Given the description of an element on the screen output the (x, y) to click on. 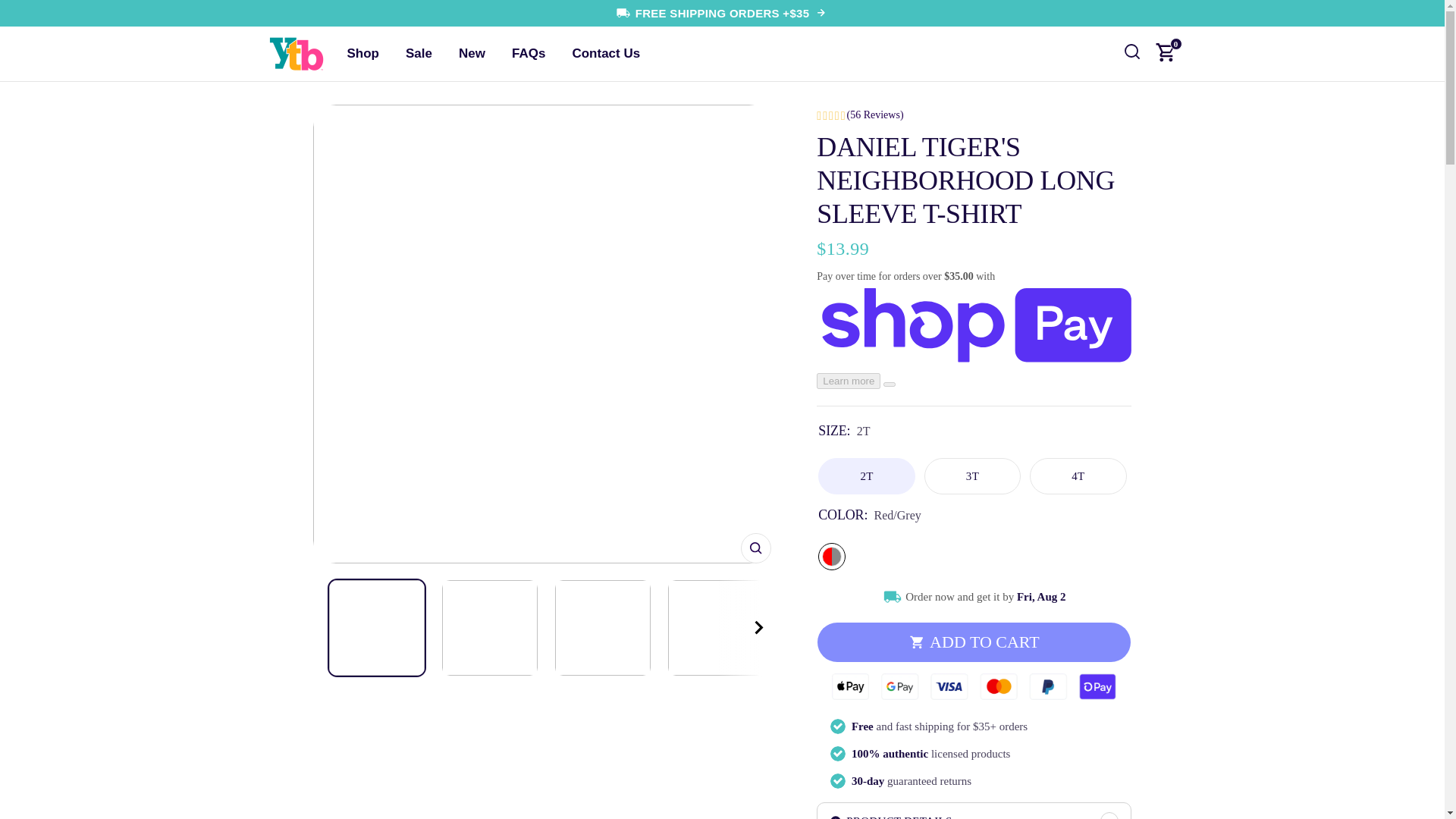
Shop (362, 54)
4.46 Stars - 56 Reviews (973, 115)
FAQs (528, 54)
Sale (419, 54)
Contact Us (605, 54)
New (471, 54)
